Given the description of an element on the screen output the (x, y) to click on. 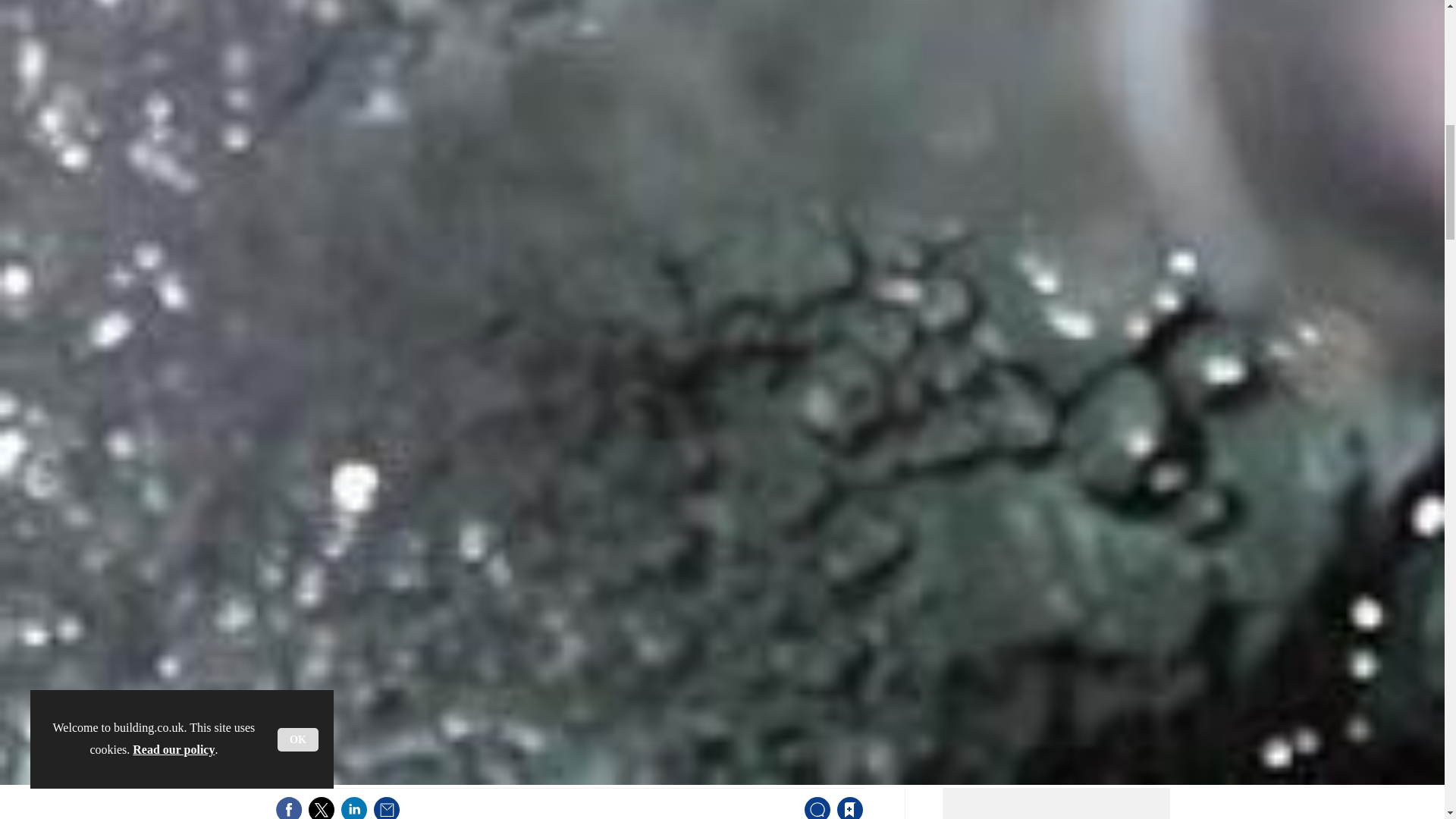
3rd party ad content (1059, 808)
Email this article (386, 807)
No comments (812, 815)
Share this on Facebook (288, 807)
Share this on Twitter (320, 807)
Share this on Linked in (352, 807)
